Given the description of an element on the screen output the (x, y) to click on. 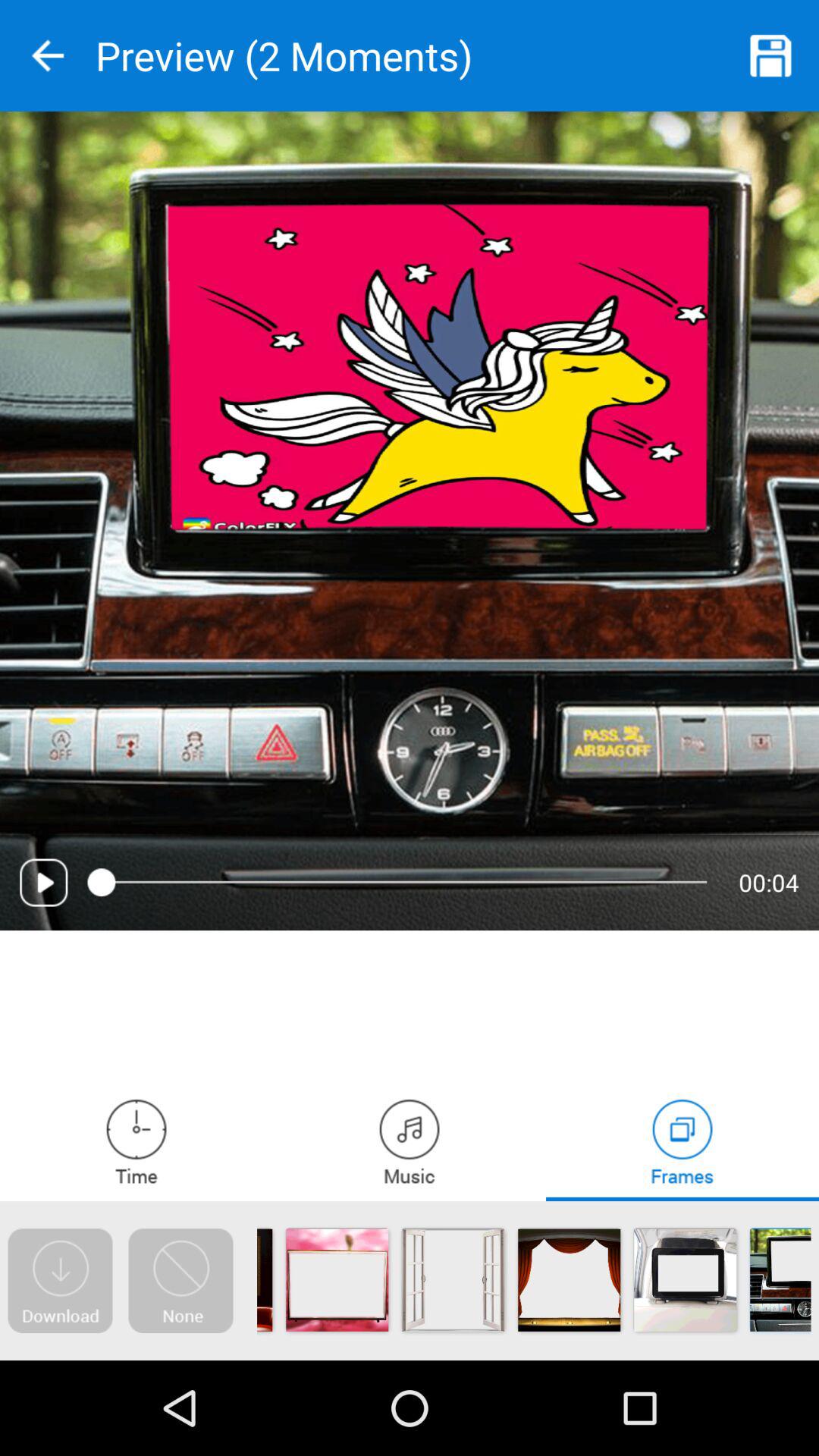
frames (682, 1141)
